Given the description of an element on the screen output the (x, y) to click on. 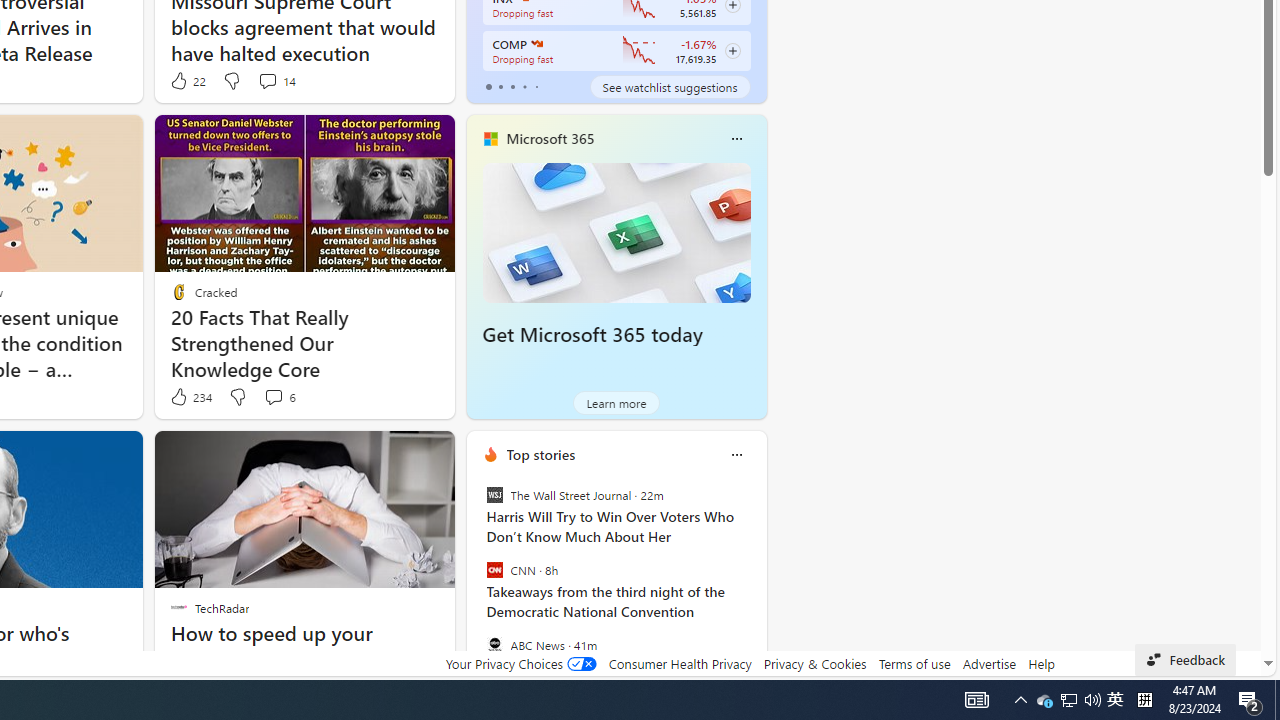
Hide this story (201, 454)
Class: follow-button  m (732, 51)
Terms of use (914, 663)
tab-1 (500, 86)
Consumer Health Privacy (680, 663)
tab-2 (511, 86)
CNN (494, 570)
See watchlist suggestions (669, 86)
next (756, 583)
Get Microsoft 365 today (592, 335)
Your Privacy Choices (520, 663)
